Given the description of an element on the screen output the (x, y) to click on. 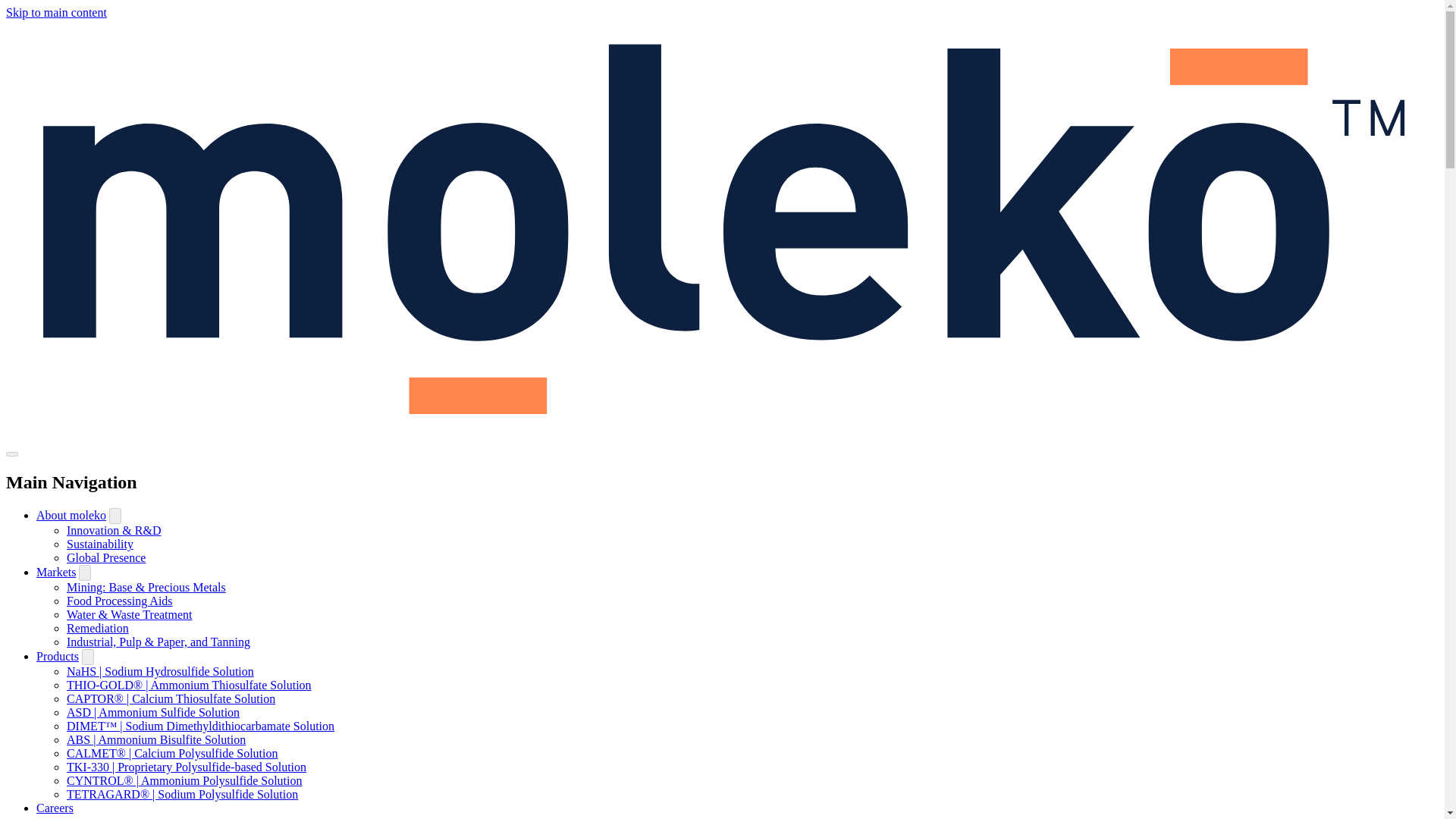
Food Processing Aids (119, 600)
Products (57, 656)
Global Presence (105, 557)
Skip to main content (55, 11)
About moleko (71, 514)
Markets (55, 571)
Remediation (97, 627)
Careers (55, 807)
Sustainability (99, 543)
